Given the description of an element on the screen output the (x, y) to click on. 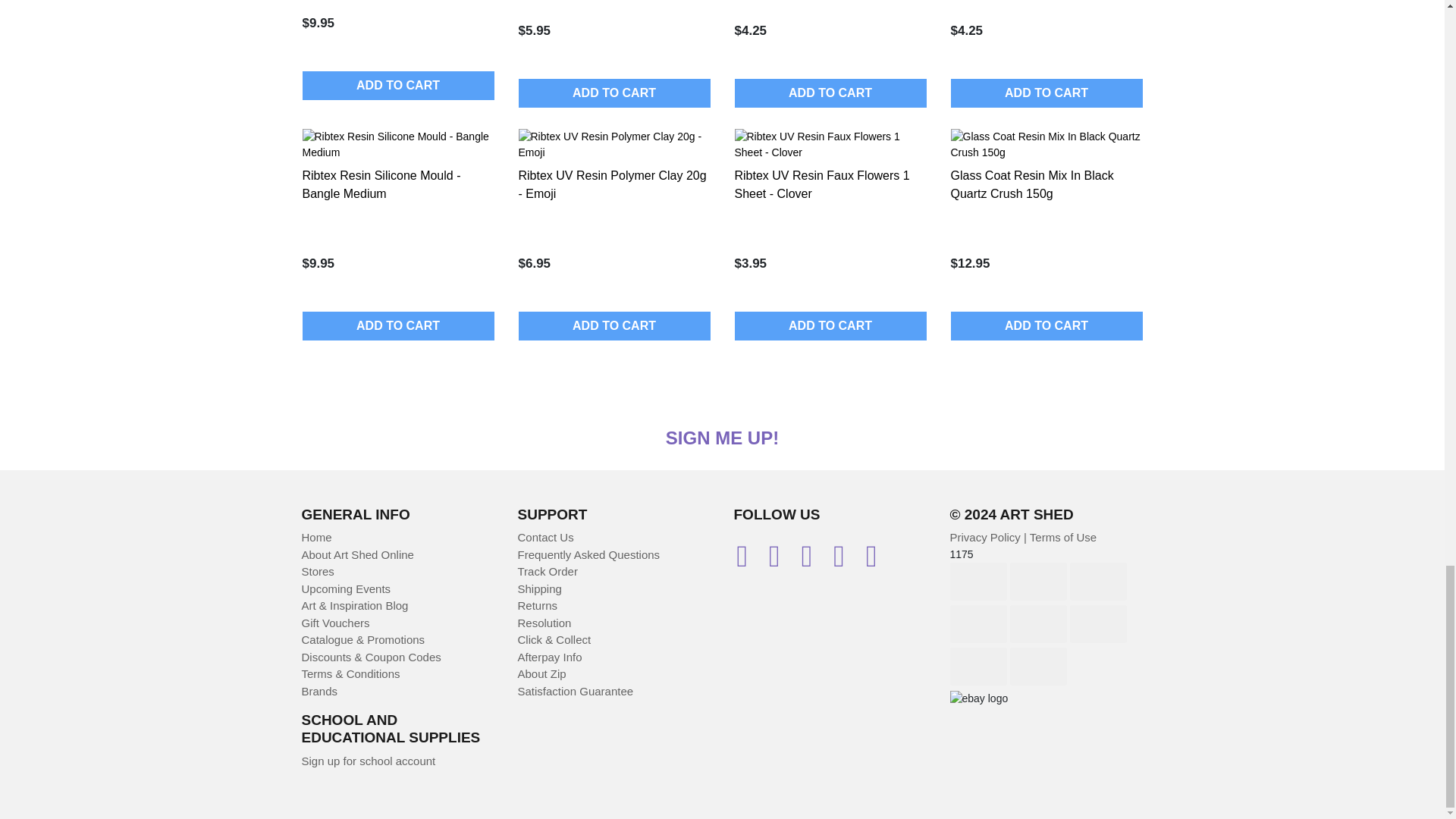
Add Ribtex Resin Silicone Mould - Round Beads 16mm to Cart (614, 92)
Add Glass Coat Resin Mix In Black Quartz Crush 150g to Cart (1046, 326)
Add Ribtex UV Resin Bezel Frame Rectangle - Gold to Cart (829, 92)
Add Ribtex UV Resin Polymer Clay 20g - Emoji to Cart (614, 326)
Add Ribtex Resin Silicone Mould - Bangle Medium to Cart (397, 326)
Add Ribtex Bio Craft Glitter 20gm - Gold to Cart (397, 85)
Add Ribtex UV Resin Bezel Frame Circle - Gold to Cart (1046, 92)
Email us (749, 560)
Add Ribtex UV Resin Faux Flowers 1 Sheet - Clover to Cart (829, 326)
